Given the description of an element on the screen output the (x, y) to click on. 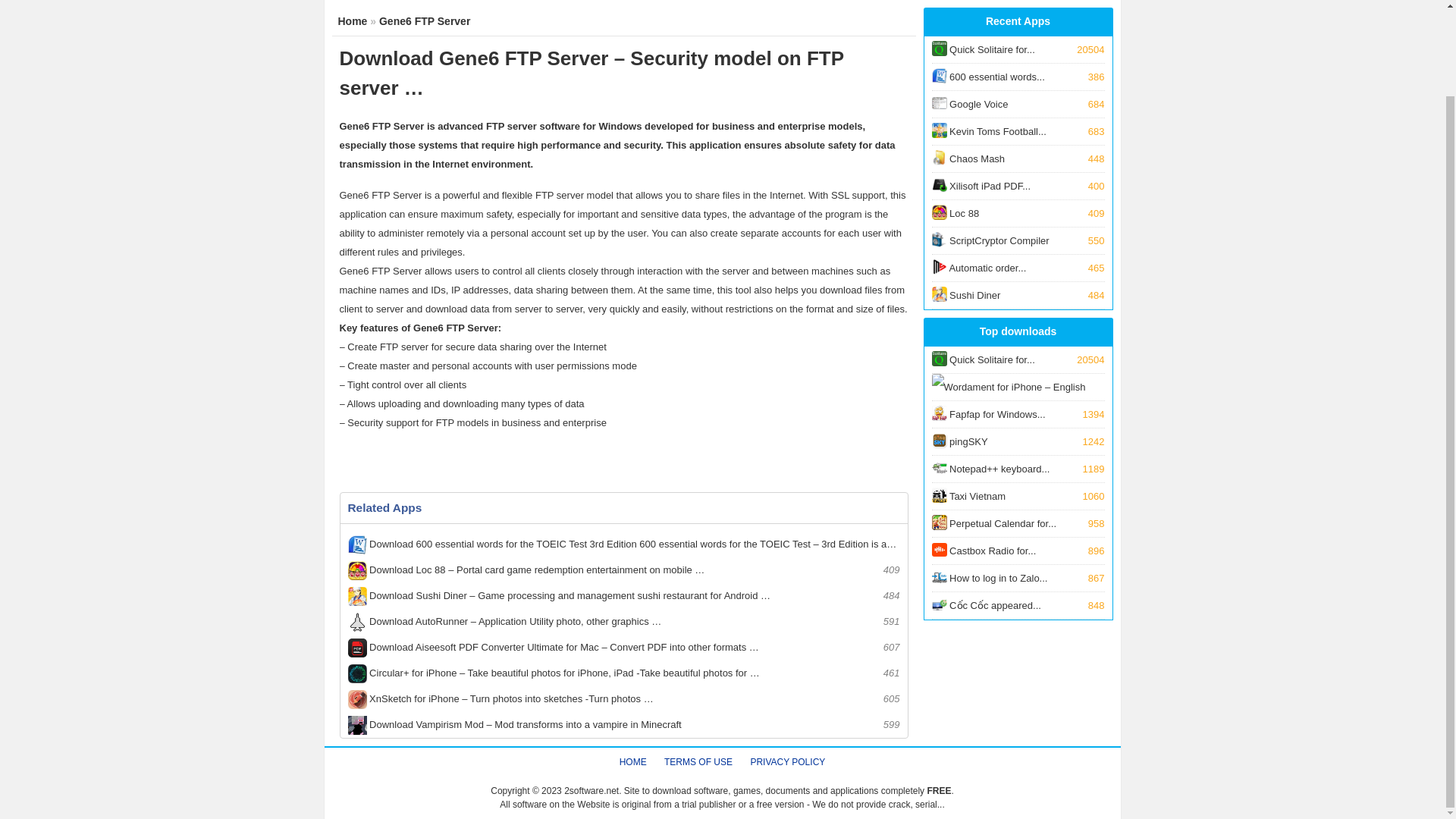
Home (1017, 103)
HOME (1017, 158)
TERMS OF USE (1017, 76)
Wordament for iPhone (352, 21)
